Given the description of an element on the screen output the (x, y) to click on. 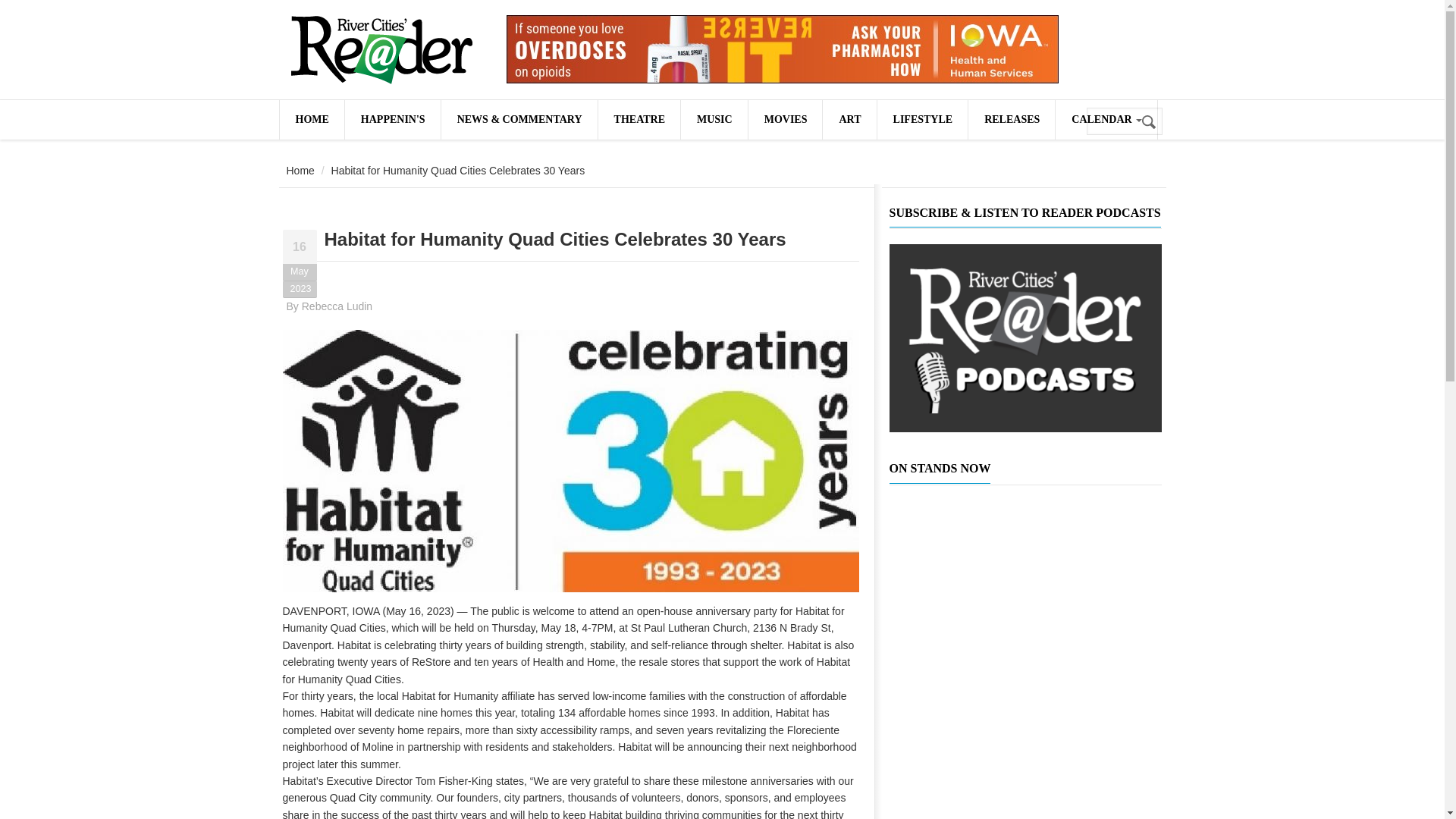
Naxalone  (782, 49)
MUSIC (714, 119)
HOME (311, 119)
Search (1149, 122)
Enter the terms you wish to search for. (1123, 121)
Home (300, 170)
Habitat for Humanity Quad Cities Celebrates 30 Years (555, 239)
MOVIES (785, 119)
THEATRE (638, 119)
Art (849, 119)
